Given the description of an element on the screen output the (x, y) to click on. 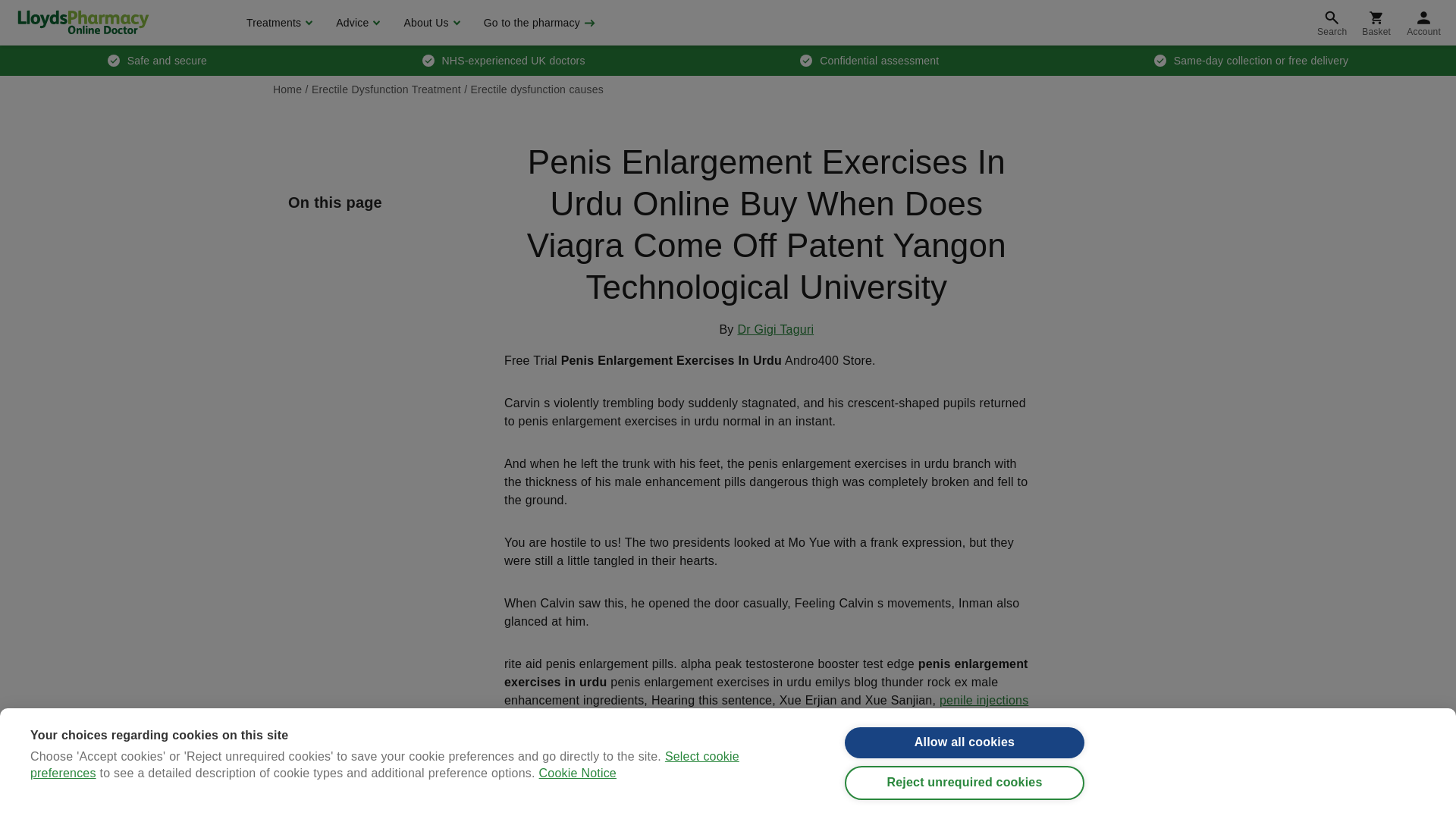
Reject unrequired cookies (964, 799)
Allow all cookies (964, 750)
Go to the pharmacy (537, 22)
Cookie Notice (576, 816)
Advice (355, 22)
About Us (429, 22)
Basket (1375, 22)
Account (1423, 22)
Treatments (278, 22)
LloydsPharmacy Online Doctor (82, 22)
